Given the description of an element on the screen output the (x, y) to click on. 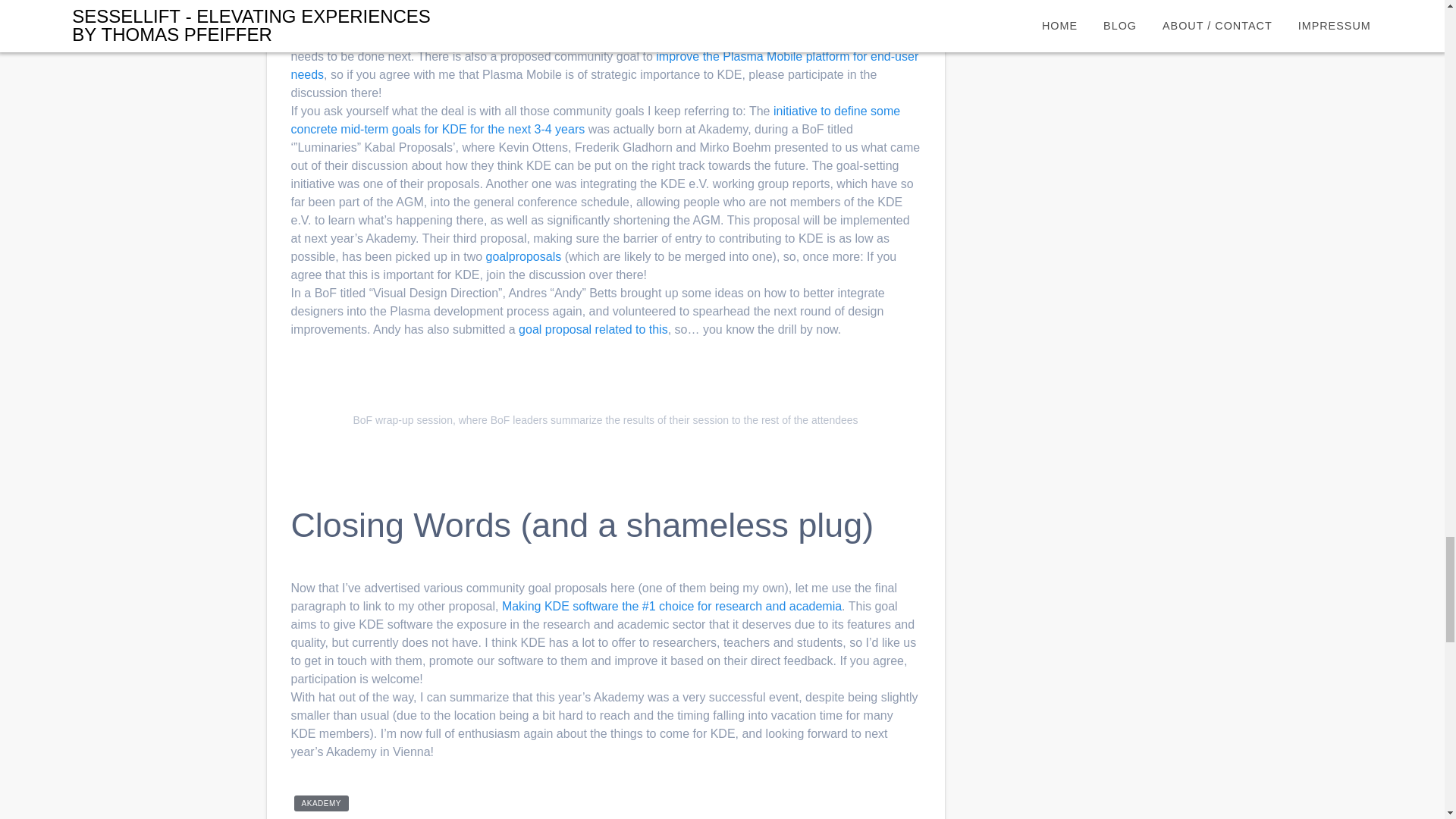
AKADEMY (321, 803)
improve the Plasma Mobile platform for end-user needs (604, 65)
goal (497, 256)
goal proposal related to this (593, 328)
proposals (534, 256)
